Given the description of an element on the screen output the (x, y) to click on. 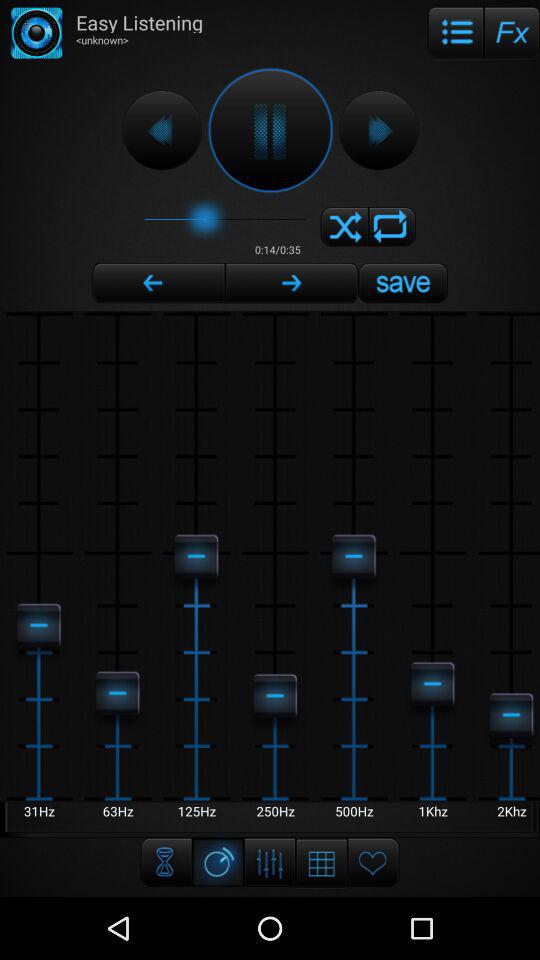
select the item below the 0 15 0 icon (291, 283)
